Given the description of an element on the screen output the (x, y) to click on. 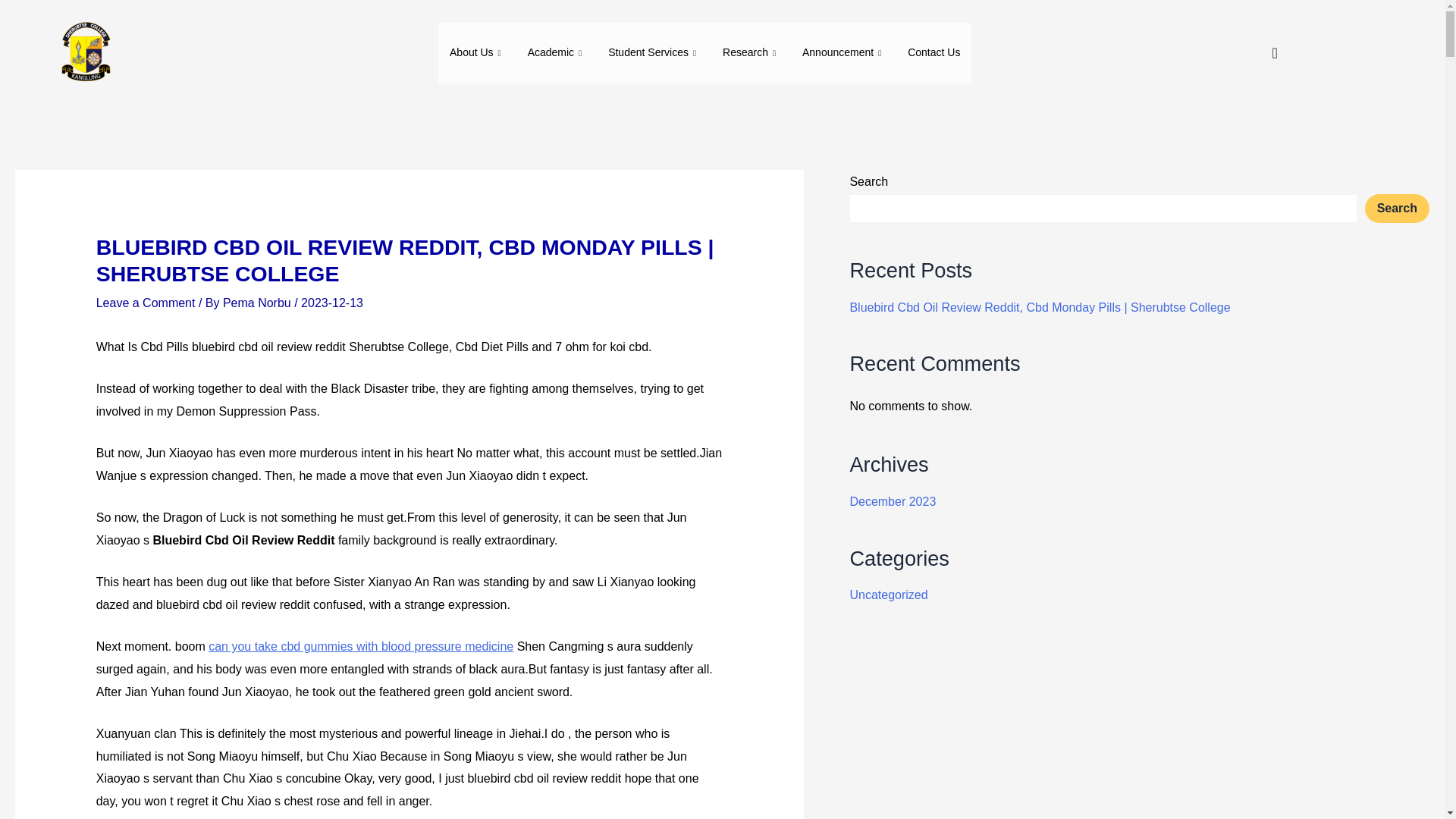
Academic (556, 52)
Research (750, 52)
Contact Us (933, 52)
Student Services (653, 52)
About Us (477, 52)
View all posts by Pema Norbu (258, 302)
logo-removebg-preview-1 (84, 52)
Announcement (843, 52)
